Given the description of an element on the screen output the (x, y) to click on. 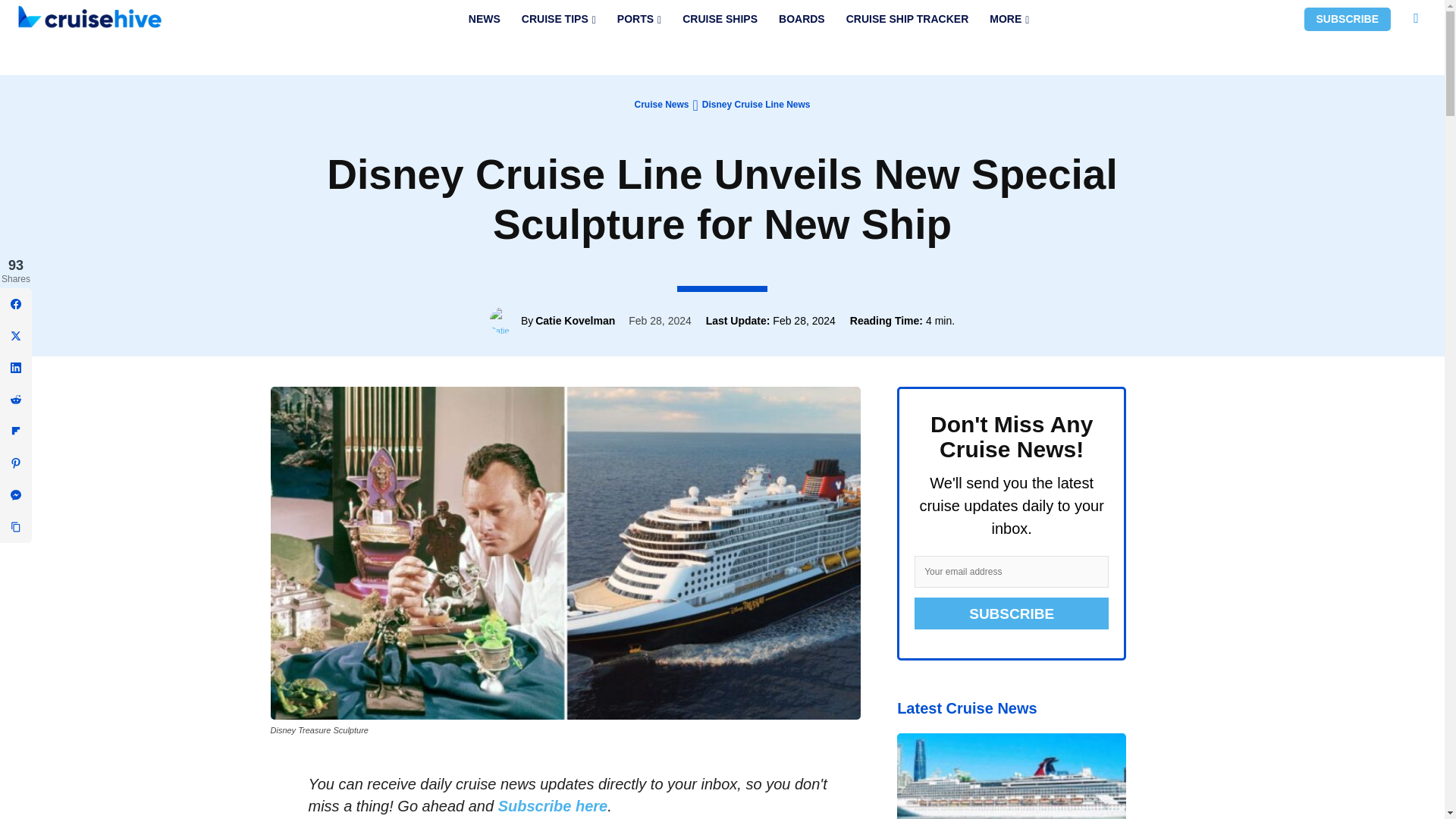
CRUISE TIPS (559, 19)
Carnival Ship Will Sail Without Some VIFP Benefits (1010, 776)
View all posts in Cruise News (660, 104)
PORTS (639, 19)
NEWS (484, 19)
Catie Kovelman (505, 320)
View all posts in Disney Cruise Line News (755, 104)
SUBSCRIBE (1347, 19)
